Given the description of an element on the screen output the (x, y) to click on. 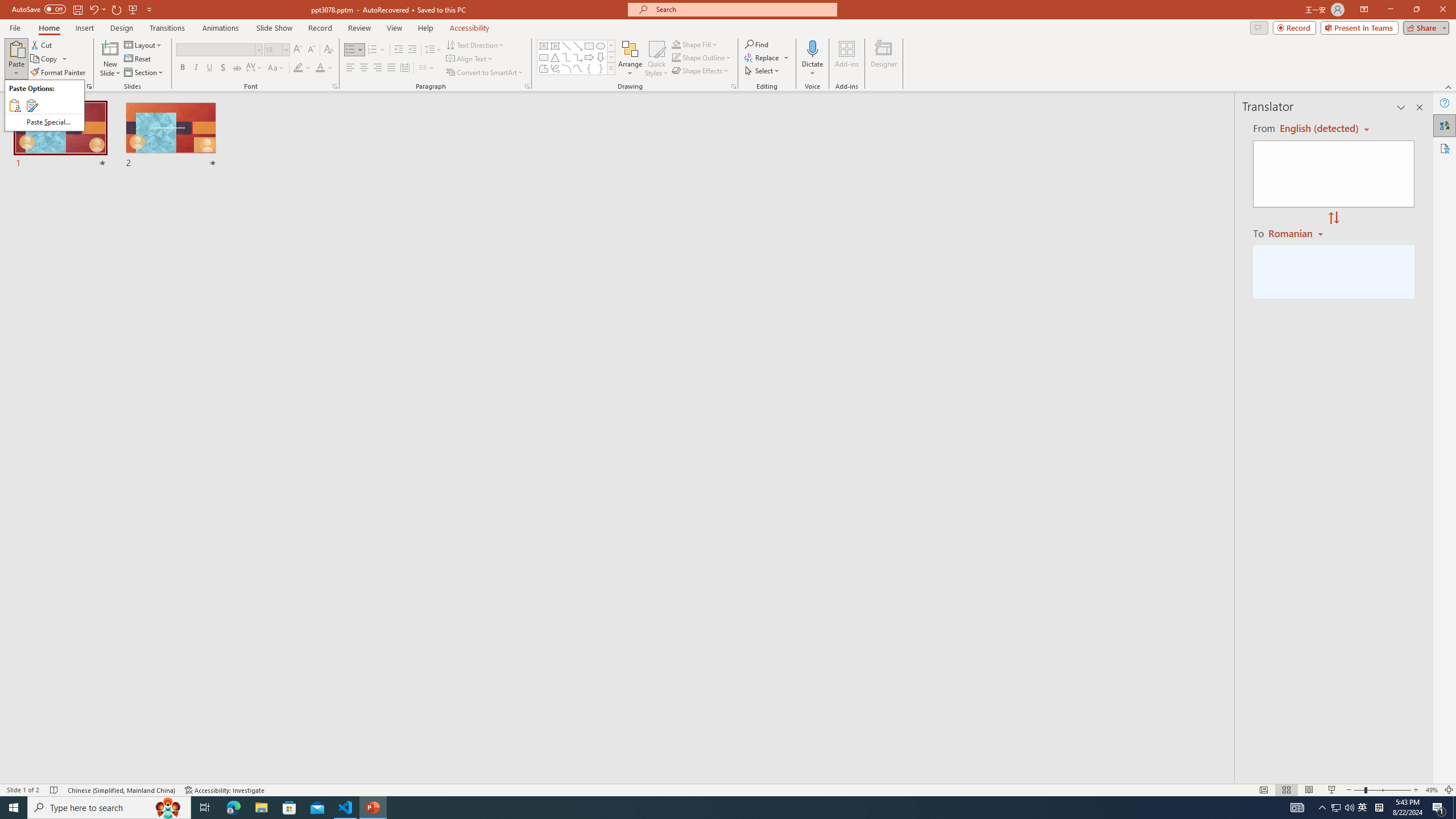
Replace... (767, 56)
Bold (182, 67)
Arrow: Right (589, 57)
Paste (16, 48)
Close pane (1419, 107)
Task Pane Options (1400, 107)
Shadow (223, 67)
PowerPoint - 1 running window (373, 807)
Replace... (762, 56)
Class: MsoCommandBar (728, 789)
Running applications (707, 807)
Decrease Font Size (310, 49)
Bullets (354, 49)
Copy (49, 58)
Restore Down (1416, 9)
